Given the description of an element on the screen output the (x, y) to click on. 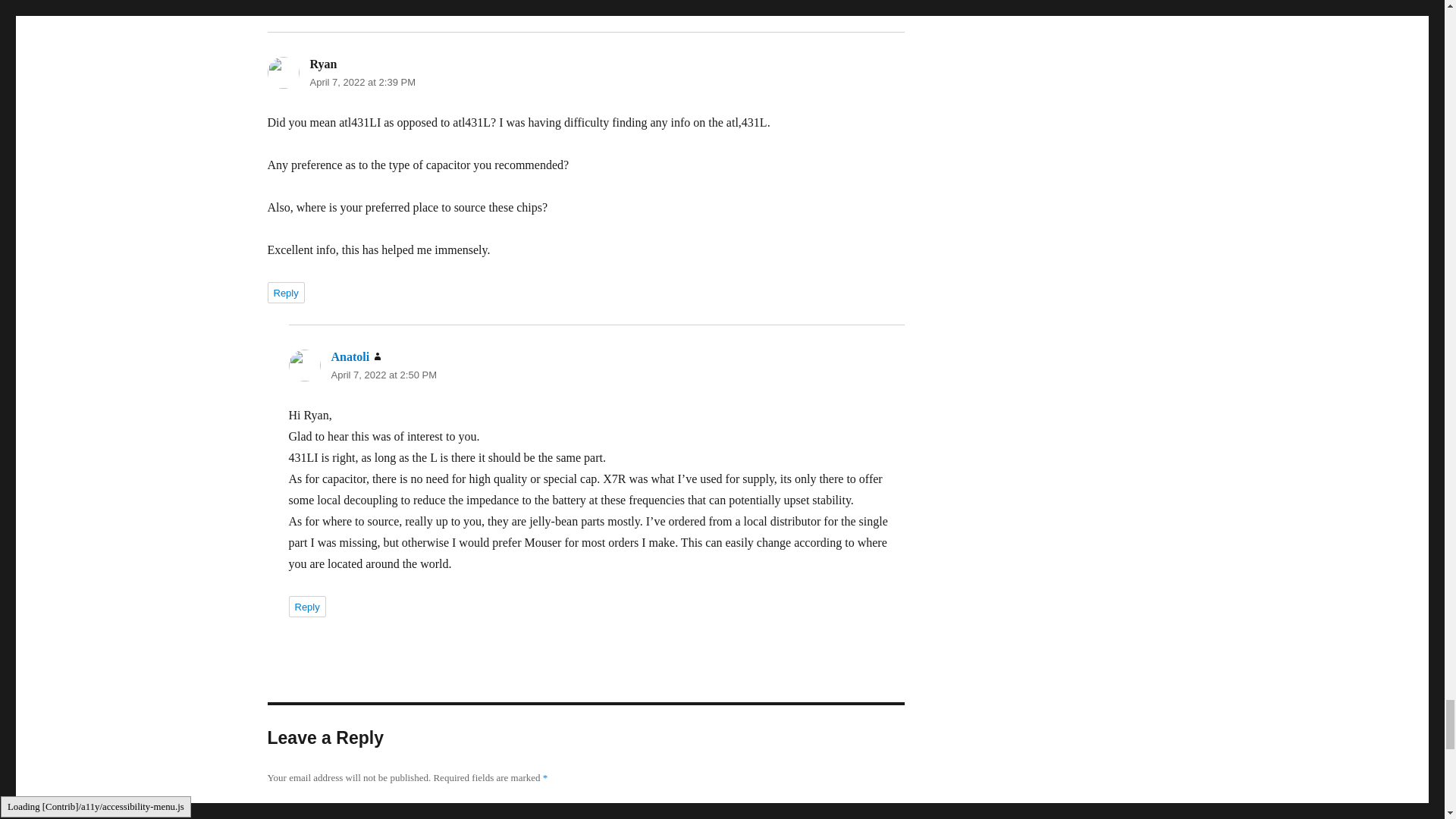
Anatoli (349, 356)
April 7, 2022 at 2:39 PM (361, 81)
Reply (285, 292)
